Given the description of an element on the screen output the (x, y) to click on. 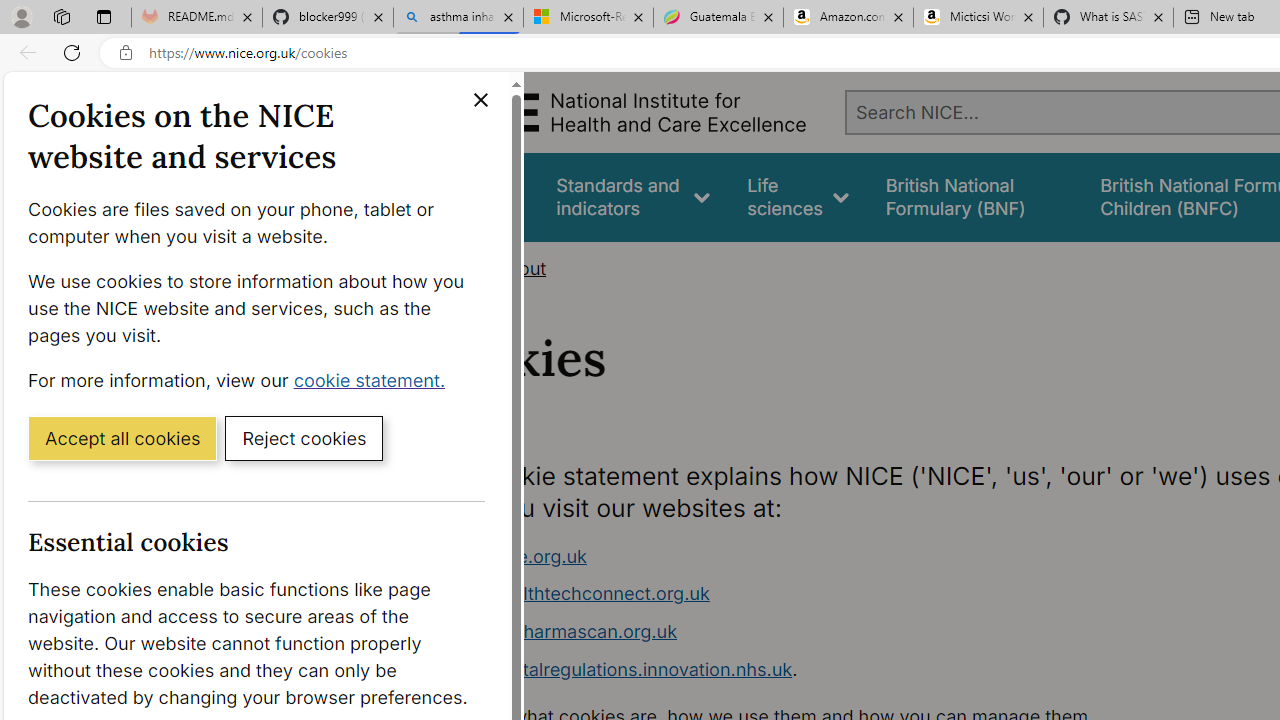
www.digitalregulations.innovation.nhs.uk. (818, 669)
www.healthtechconnect.org.uk (818, 594)
www.healthtechconnect.org.uk (576, 593)
www.ukpharmascan.org.uk (560, 631)
Accept all cookies (122, 437)
